Given the description of an element on the screen output the (x, y) to click on. 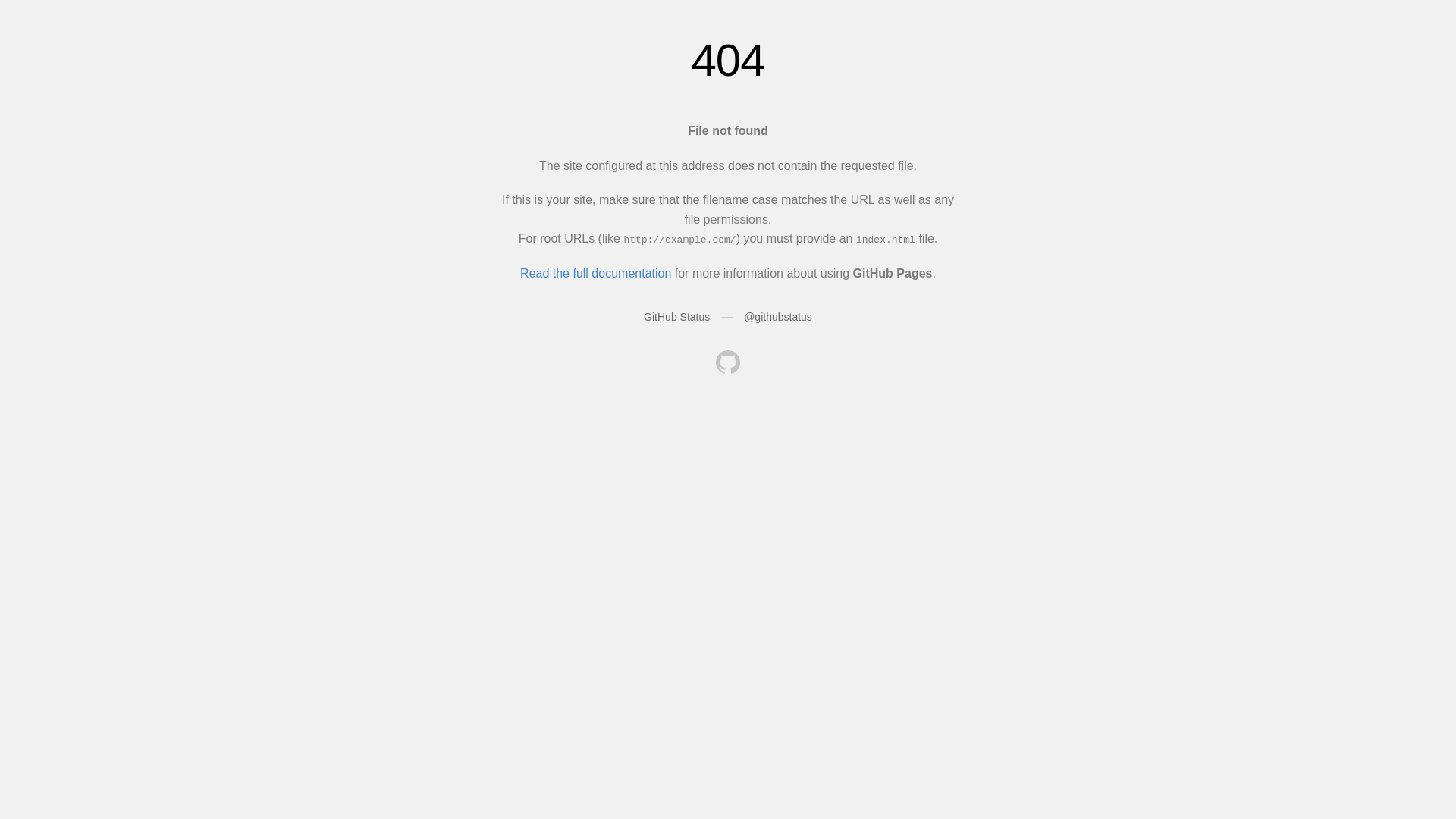
Read the full documentation Element type: text (595, 272)
GitHub Status Element type: text (676, 316)
@githubstatus Element type: text (777, 316)
